Given the description of an element on the screen output the (x, y) to click on. 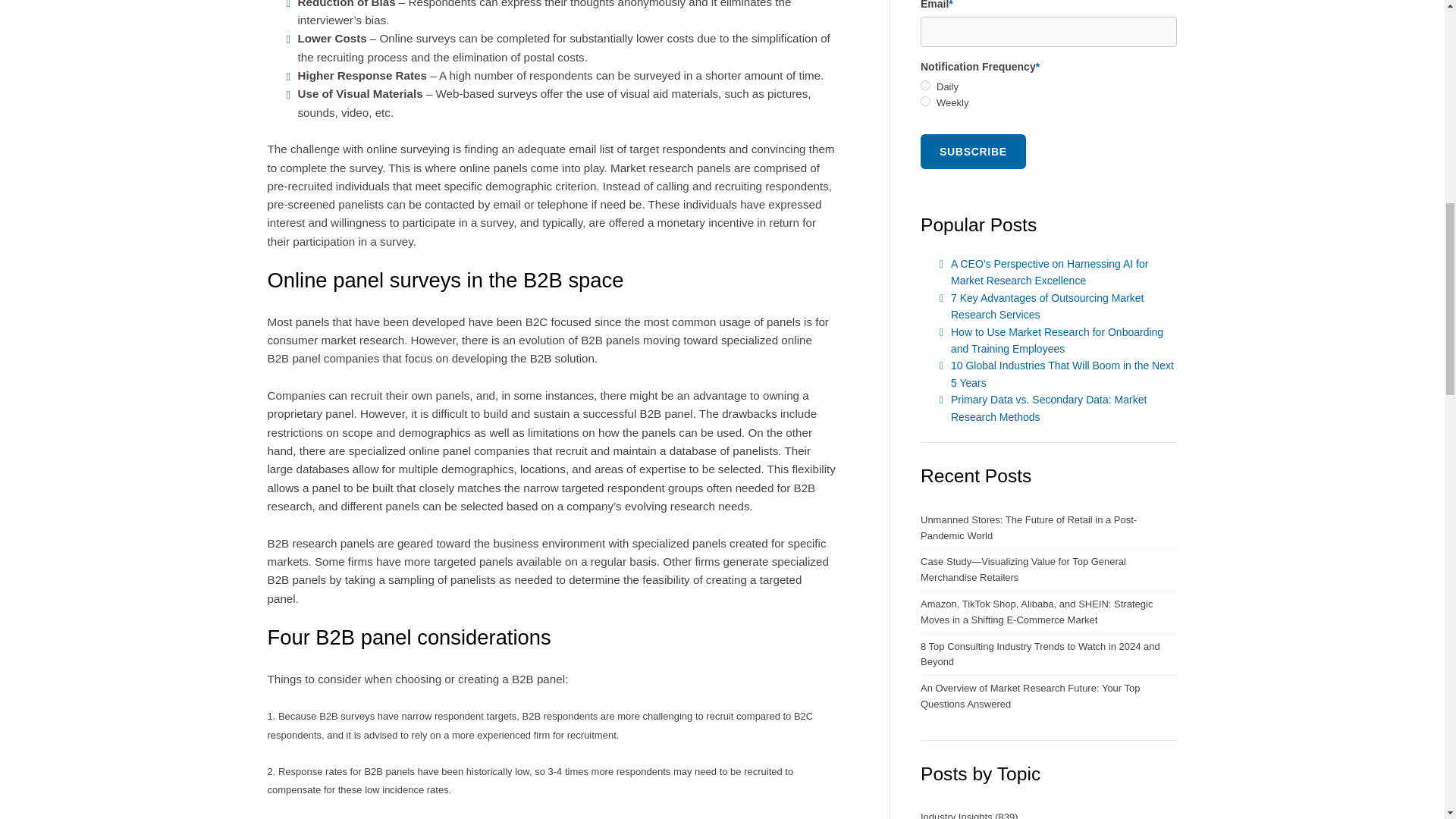
7 Key Advantages of Outsourcing Market Research Services (1046, 306)
Primary Data vs. Secondary Data: Market Research Methods (1048, 407)
weekly (925, 101)
8 Top Consulting Industry Trends to Watch in 2024 and Beyond (1048, 654)
daily (925, 85)
10 Global Industries That Will Boom in the Next 5 Years (1061, 373)
